Given the description of an element on the screen output the (x, y) to click on. 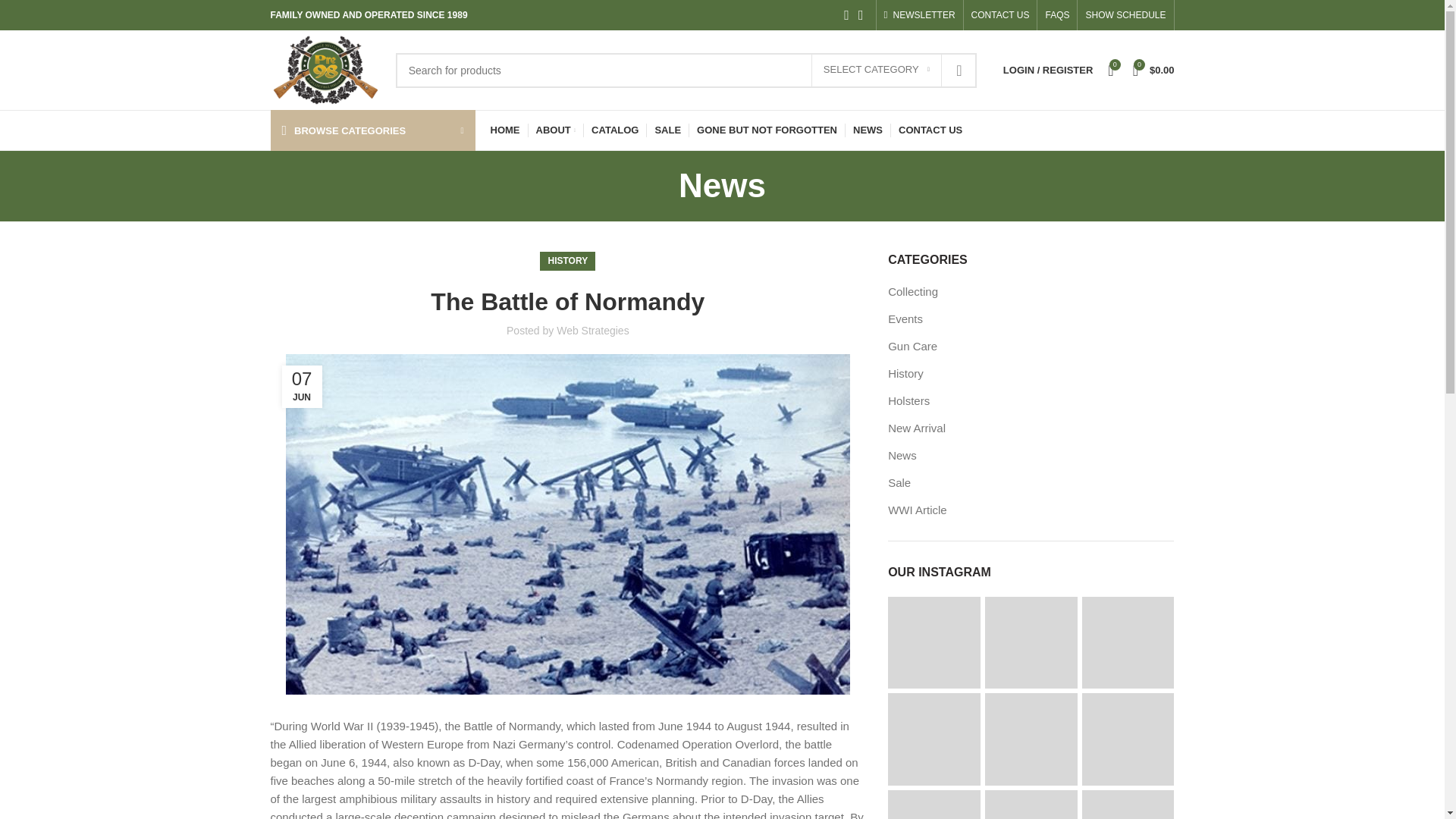
Shopping cart (1153, 69)
SELECT CATEGORY (876, 70)
CONTACT US (1000, 15)
Search for products (686, 70)
SELECT CATEGORY (876, 70)
NEWSLETTER (919, 15)
My account (1047, 69)
SHOW SCHEDULE (1125, 15)
